Given the description of an element on the screen output the (x, y) to click on. 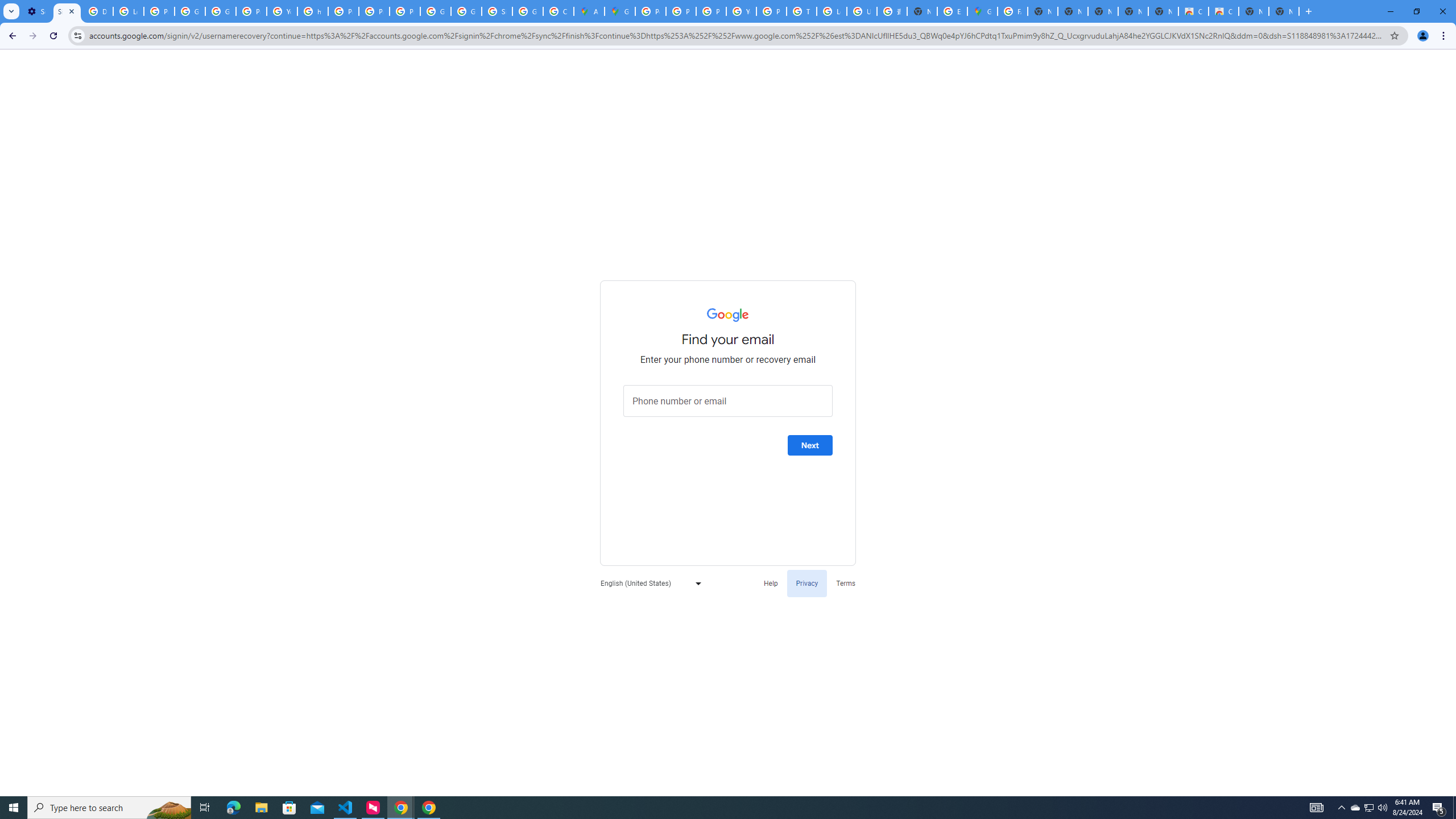
Privacy Help Center - Policies Help (681, 11)
New Tab (922, 11)
Next (809, 445)
Google Account Help (189, 11)
Tips & tricks for Chrome - Google Chrome Help (801, 11)
Reload (52, 35)
New Tab (1283, 11)
https://scholar.google.com/ (312, 11)
Settings - On startup (36, 11)
Classic Blue - Chrome Web Store (1193, 11)
Classic Blue - Chrome Web Store (1223, 11)
